Given the description of an element on the screen output the (x, y) to click on. 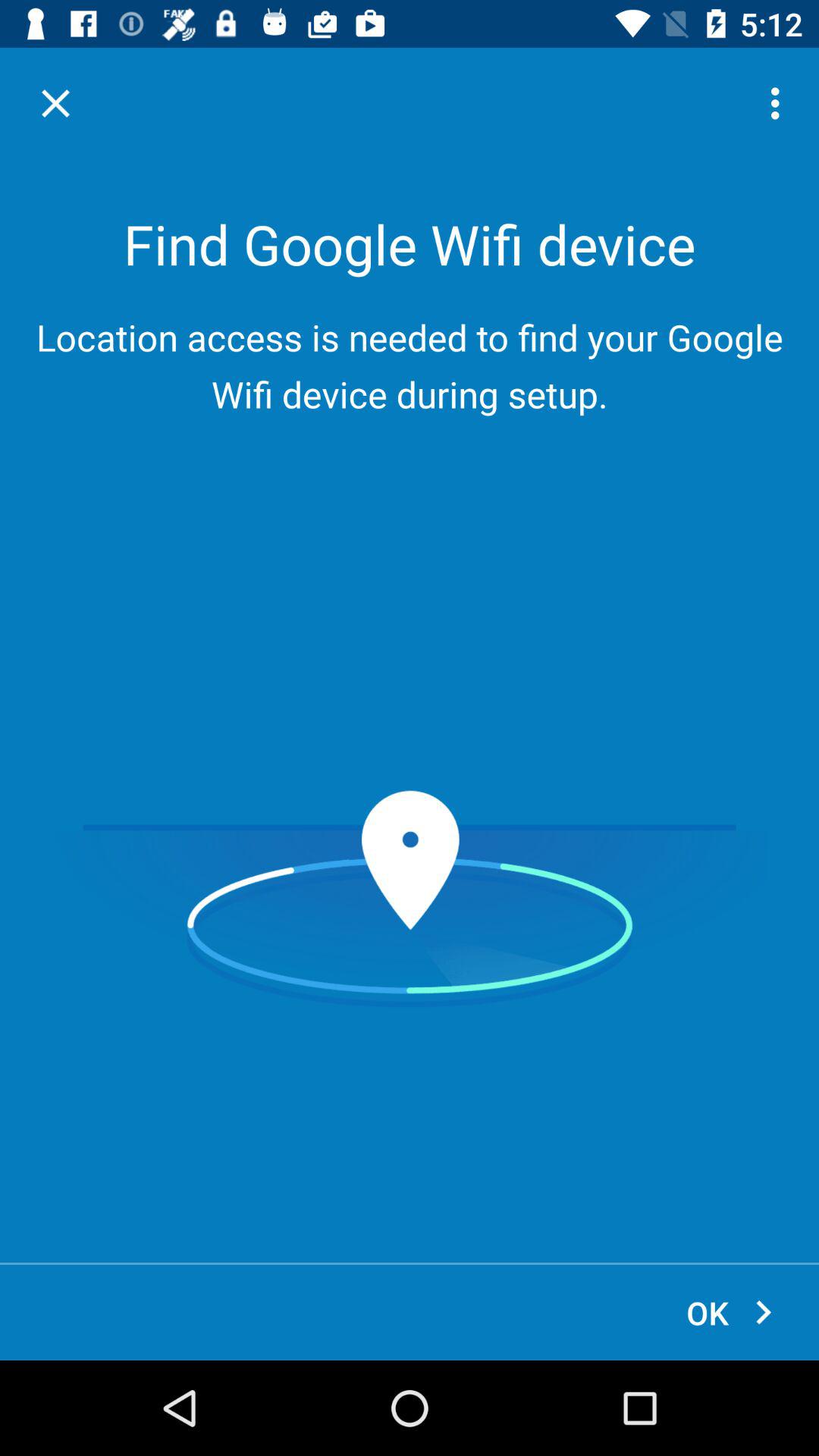
turn on ok icon (731, 1312)
